Given the description of an element on the screen output the (x, y) to click on. 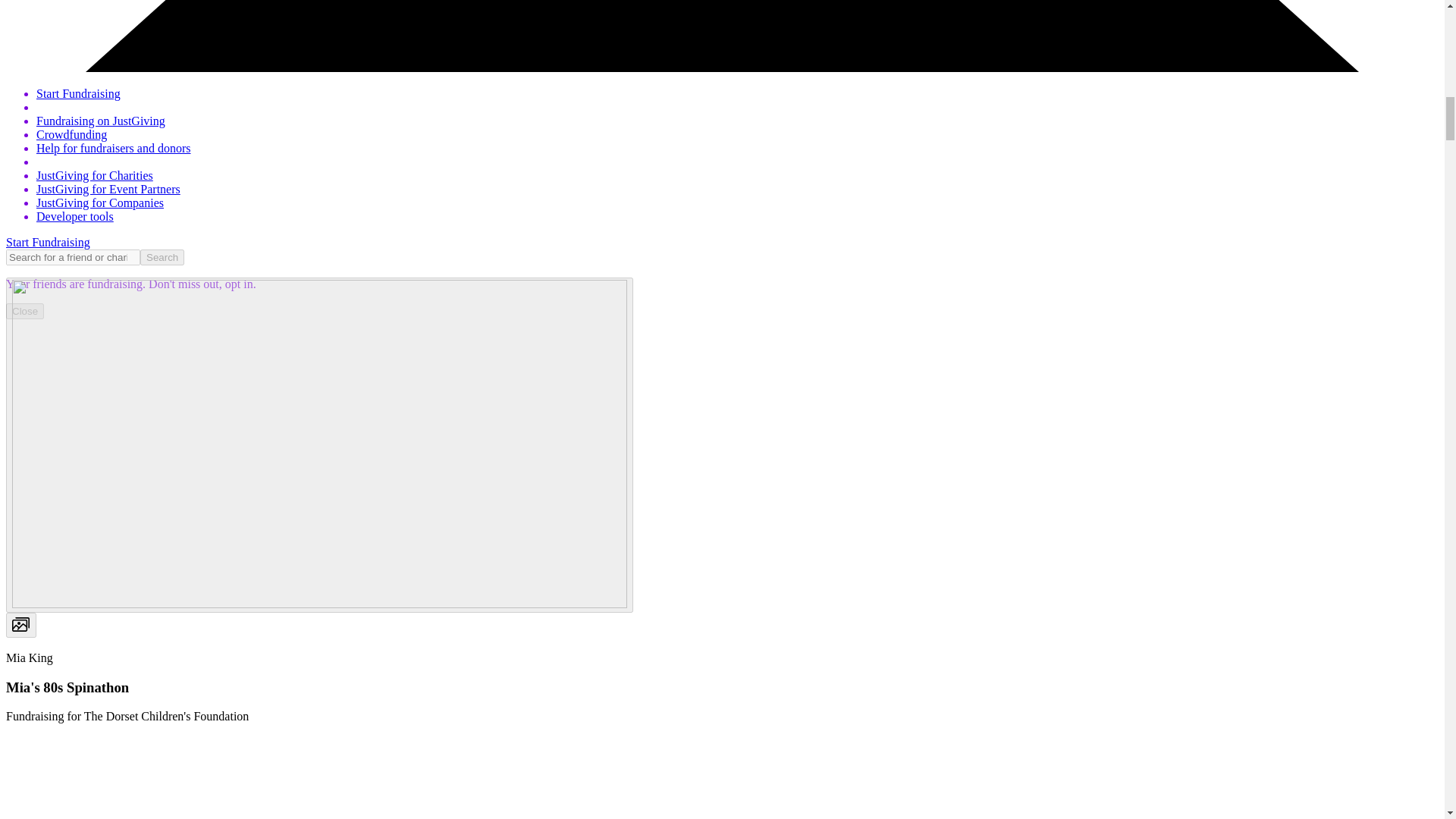
Search (161, 257)
Crowdfunding (71, 133)
opt in. (239, 283)
Start Fundraising (47, 241)
Fundraising on JustGiving (100, 120)
JustGiving for Companies (99, 202)
JustGiving for Charities (94, 174)
Search (161, 257)
Help for fundraisers and donors (113, 147)
JustGiving for Event Partners (108, 188)
Start Fundraising (78, 92)
Close (24, 311)
Search (161, 257)
Developer tools (74, 215)
